Given the description of an element on the screen output the (x, y) to click on. 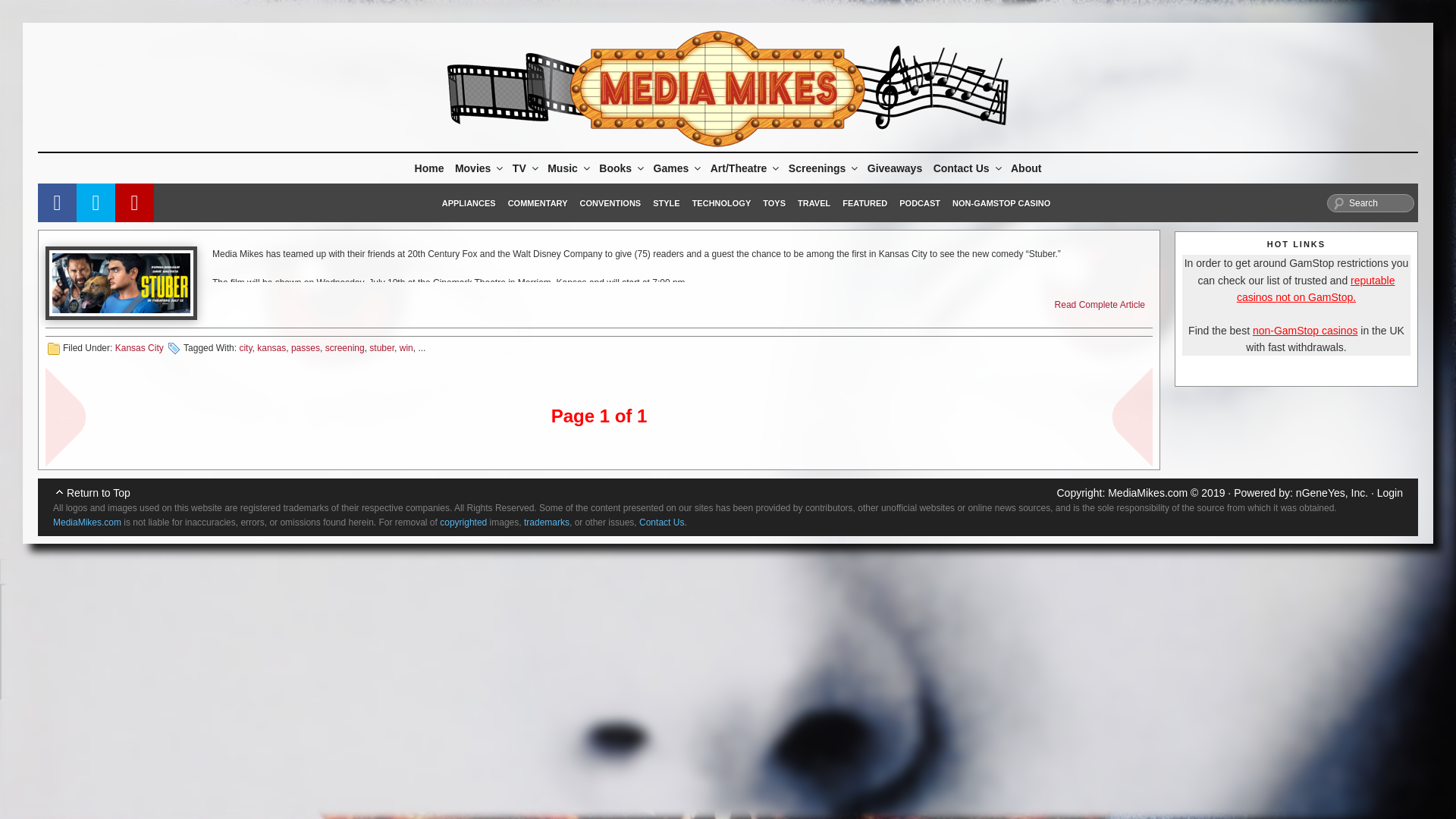
TV (524, 168)
Music (567, 168)
Media Mikes (1148, 492)
Movies (478, 168)
gamstop (1305, 330)
Login (1390, 492)
copyright (462, 521)
Search (1369, 203)
Games (676, 168)
Contact Us (86, 521)
gamstop (1315, 288)
nGeneYes, Inc. (1331, 492)
Home (429, 168)
Contact Us (663, 521)
trademark (546, 521)
